Given the description of an element on the screen output the (x, y) to click on. 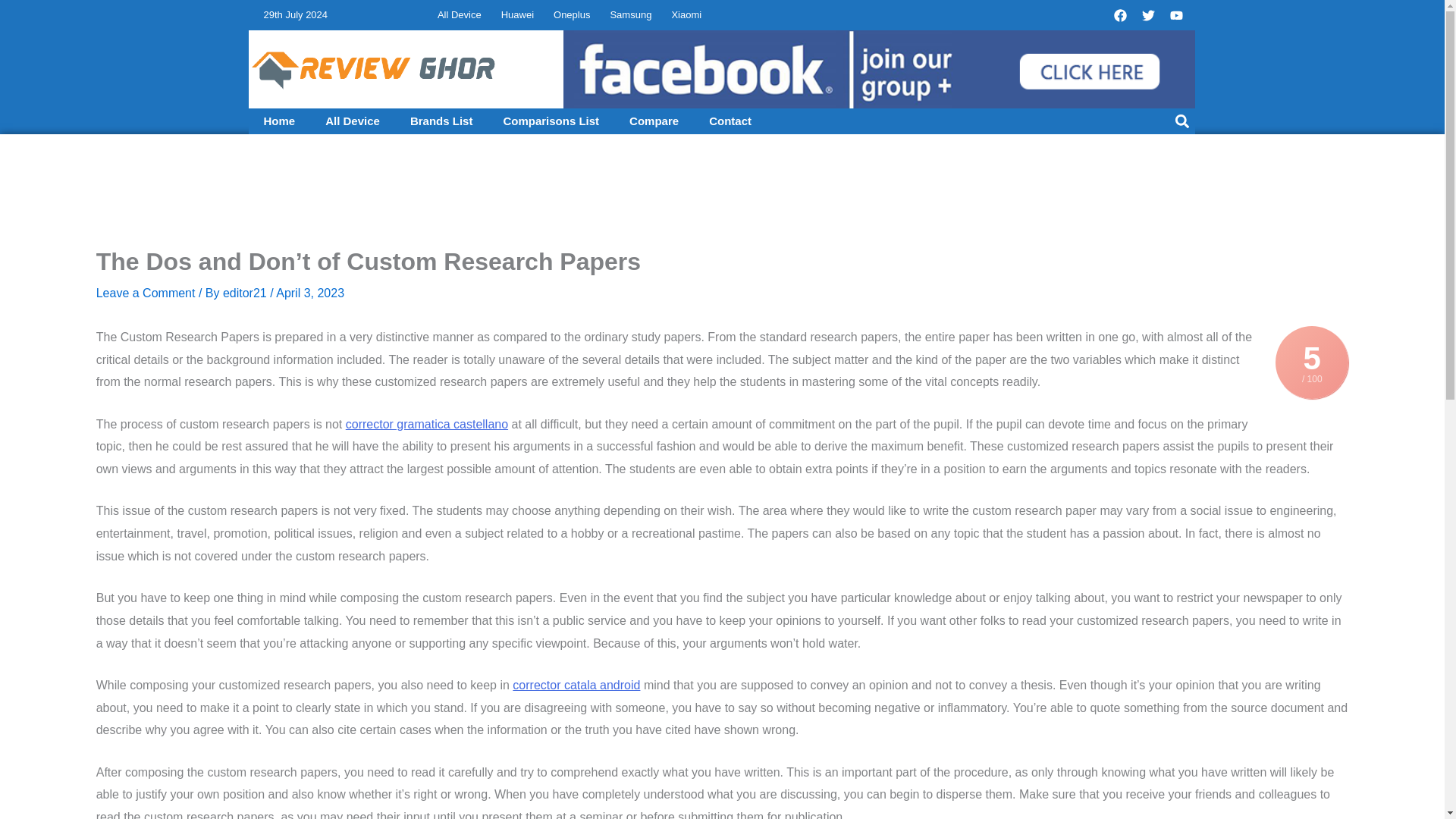
Facebook (1119, 15)
Comparisons List (550, 121)
Brands List (440, 121)
Xiaomi (686, 15)
Compare (654, 121)
Huawei (517, 15)
Contact (730, 121)
Twitter (1147, 15)
All Device (460, 15)
Youtube (1176, 15)
Oneplus (571, 15)
All Device (352, 121)
Samsung (630, 15)
View all posts by editor21 (245, 292)
Home (279, 121)
